Given the description of an element on the screen output the (x, y) to click on. 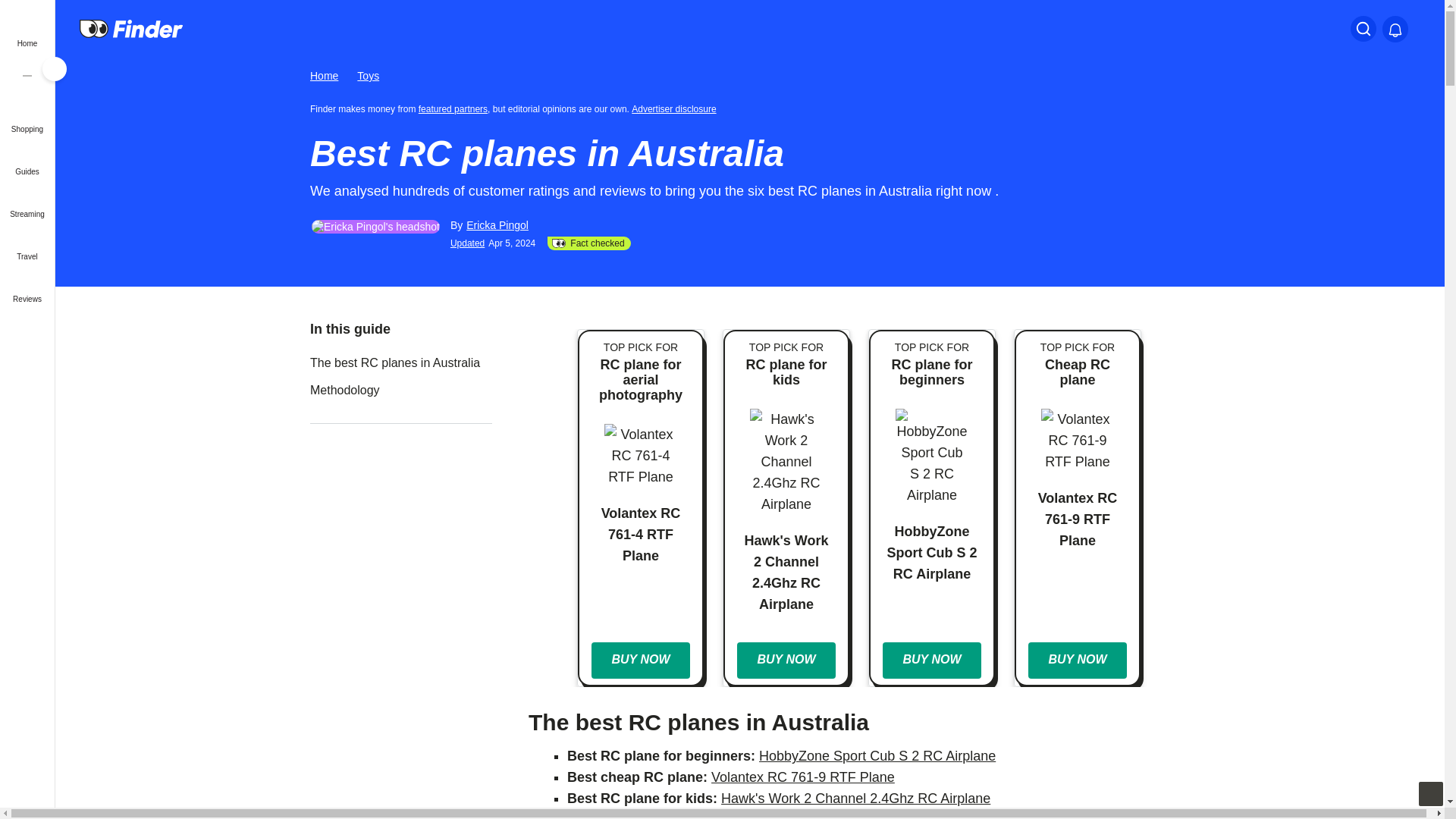
Back to Top (1430, 793)
Toys (367, 75)
Advertiser disclosure (676, 108)
Important information about this website (676, 108)
Hawk's Work 2 Channel 2.4Ghz RC Airplane (855, 798)
HobbyZone Sport Cub S 2 RC Airplane (876, 755)
Volantex RC 761-9 RTF Plane (803, 776)
Top Race TR-C385 Remote Control Airplane (864, 815)
featured partners (453, 108)
Home (323, 75)
